Given the description of an element on the screen output the (x, y) to click on. 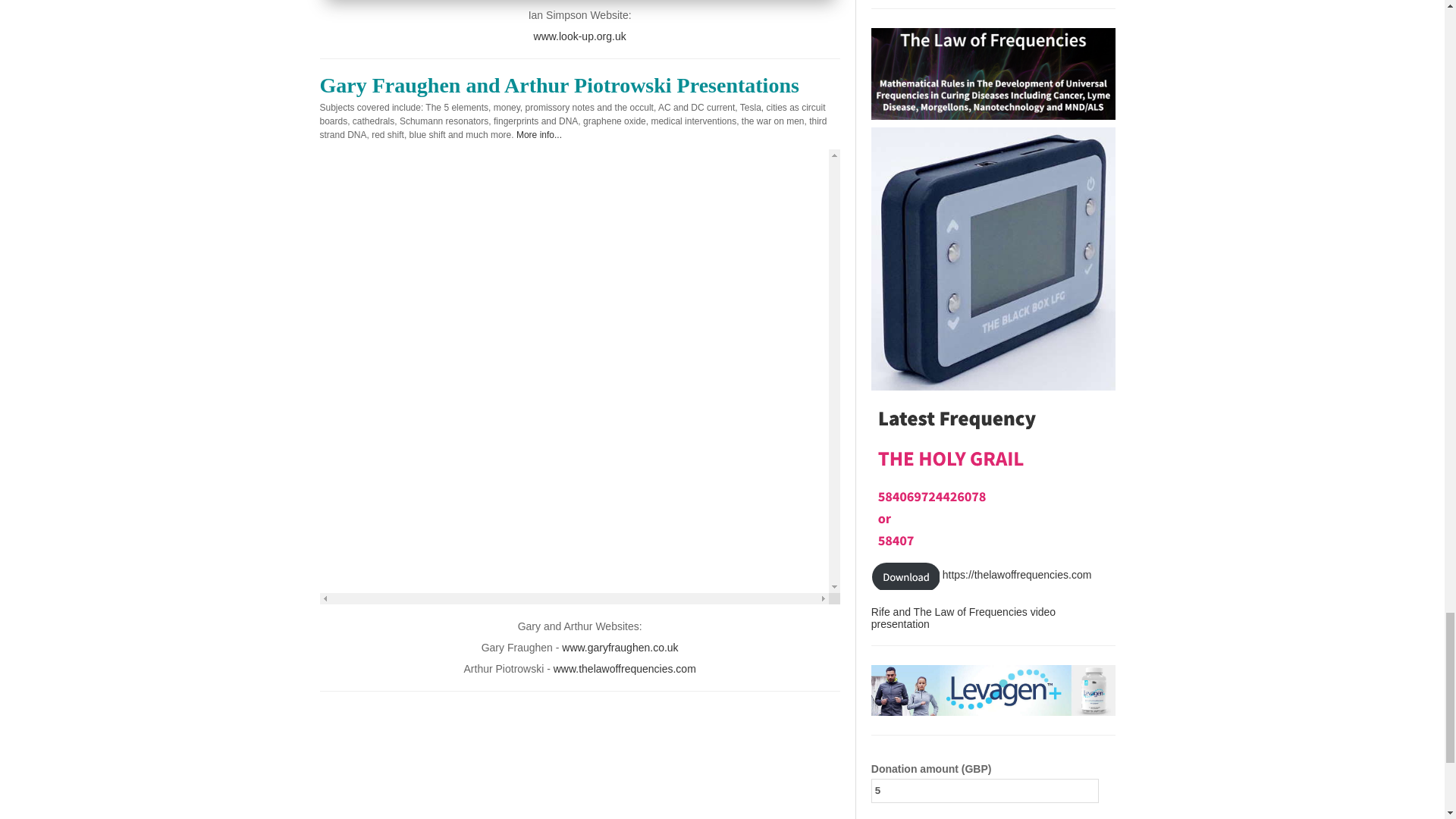
www.thelawoffrequencies.com (624, 668)
www.look-up.org.uk (580, 36)
5 (984, 790)
www.garyfraughen.co.uk (620, 647)
More info... (539, 134)
